Given the description of an element on the screen output the (x, y) to click on. 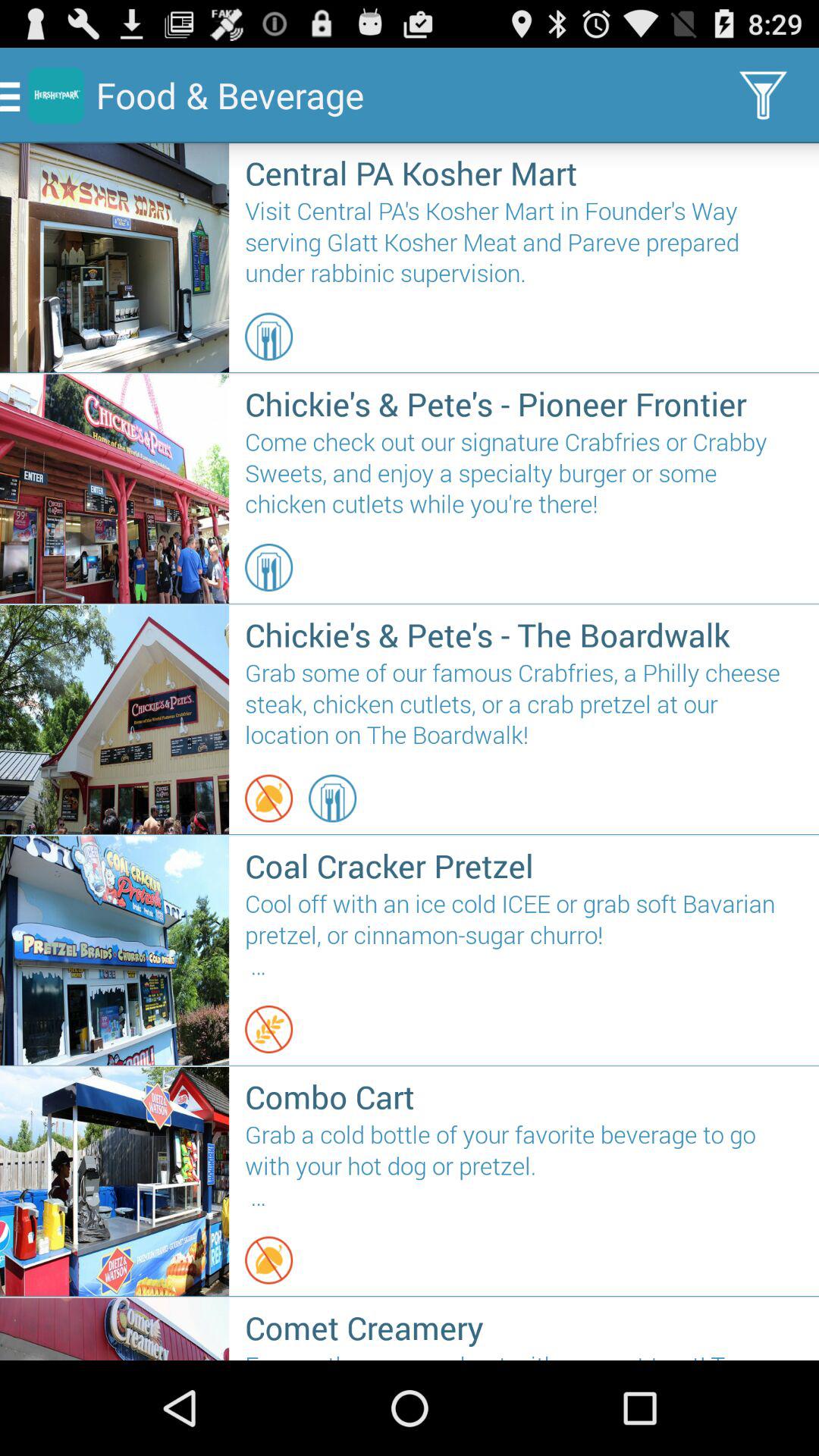
open the item below come check out item (268, 567)
